Given the description of an element on the screen output the (x, y) to click on. 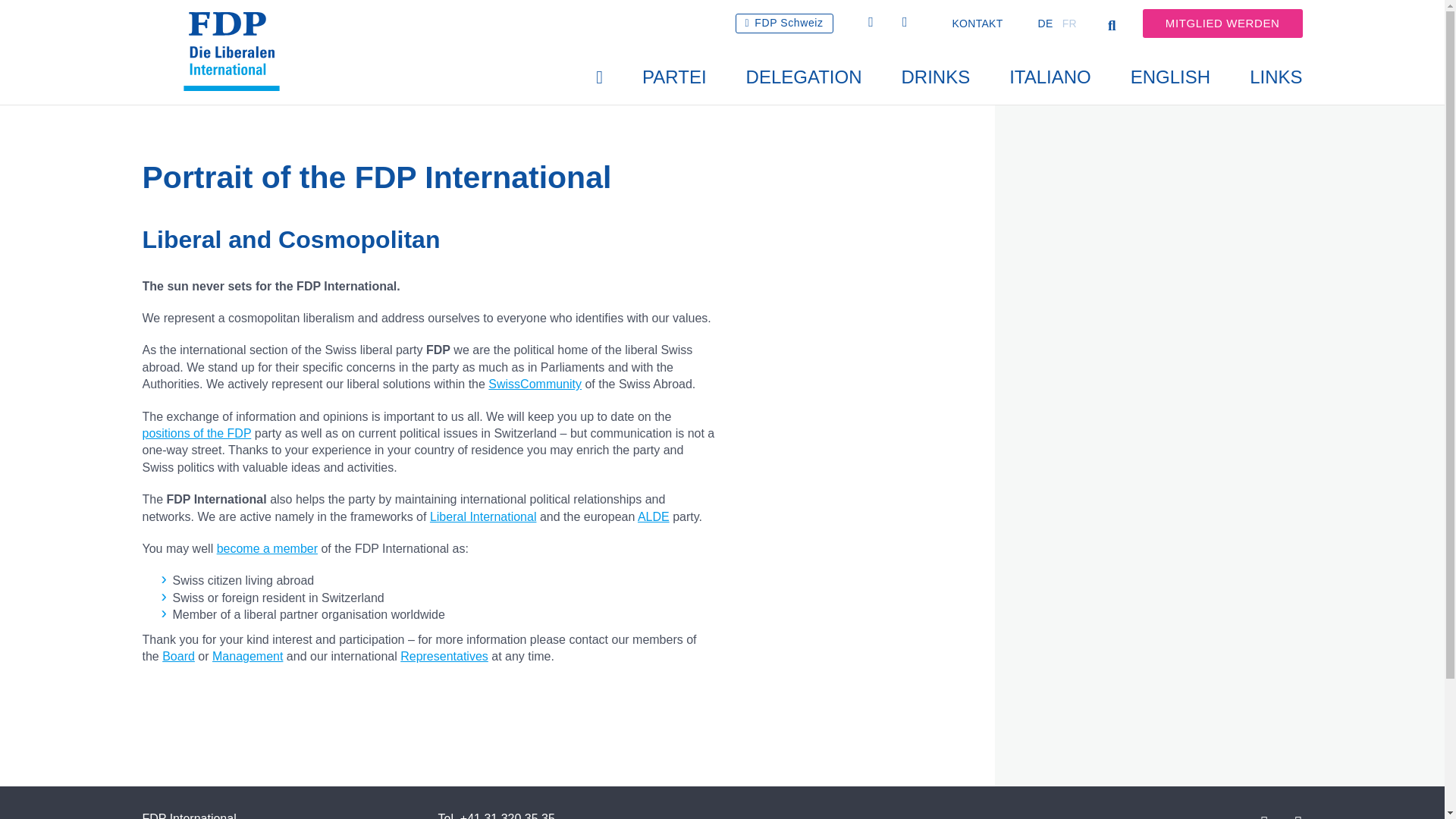
ALDE (653, 516)
FR (1069, 23)
FDP Schweiz (783, 23)
ENGLISH (1170, 76)
FDP Schweiz (783, 23)
Liberal International (483, 516)
FDP International (236, 30)
positions of the FDP (196, 432)
KONTAKT (976, 23)
LINKS (1265, 76)
